Given the description of an element on the screen output the (x, y) to click on. 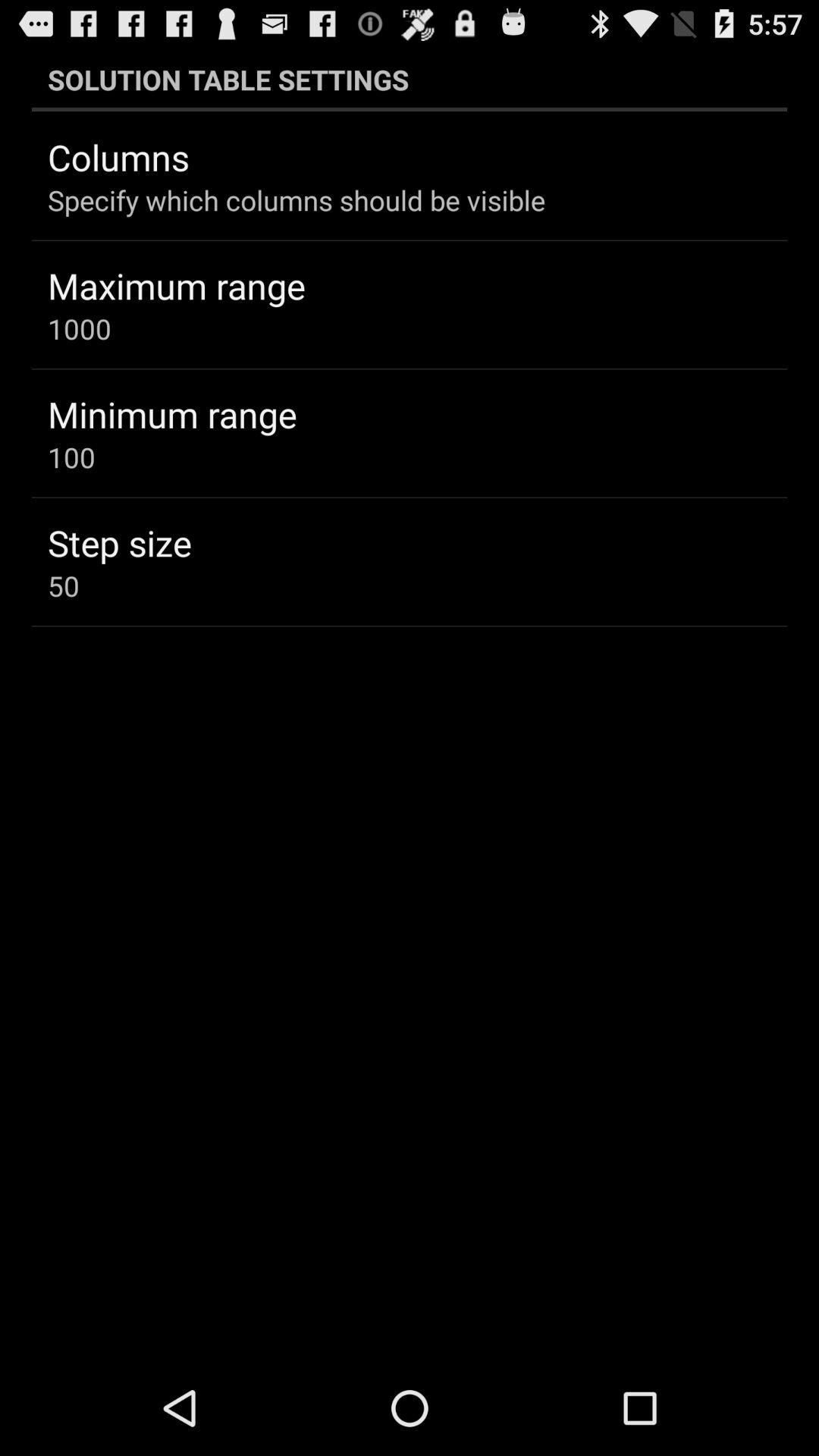
jump until the specify which columns icon (296, 199)
